Given the description of an element on the screen output the (x, y) to click on. 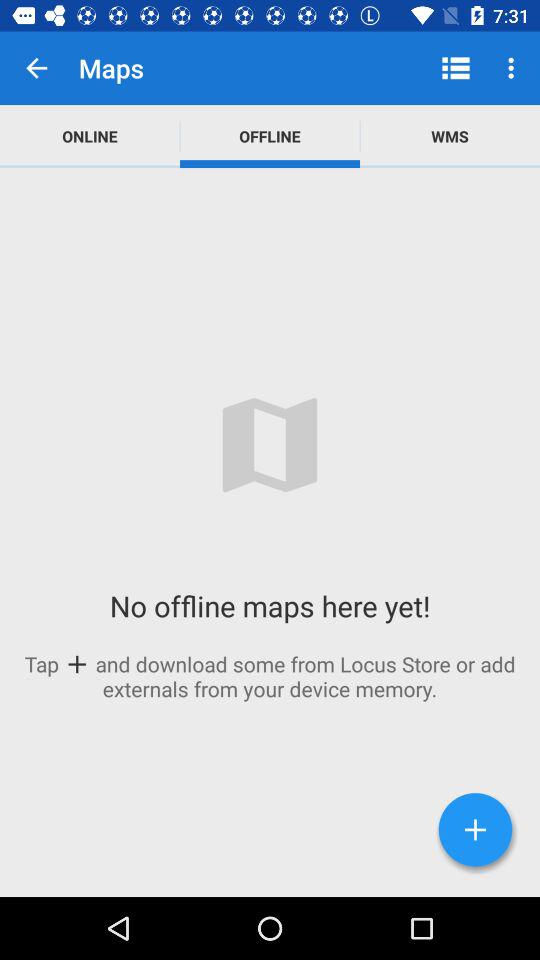
click wms app (450, 136)
